Given the description of an element on the screen output the (x, y) to click on. 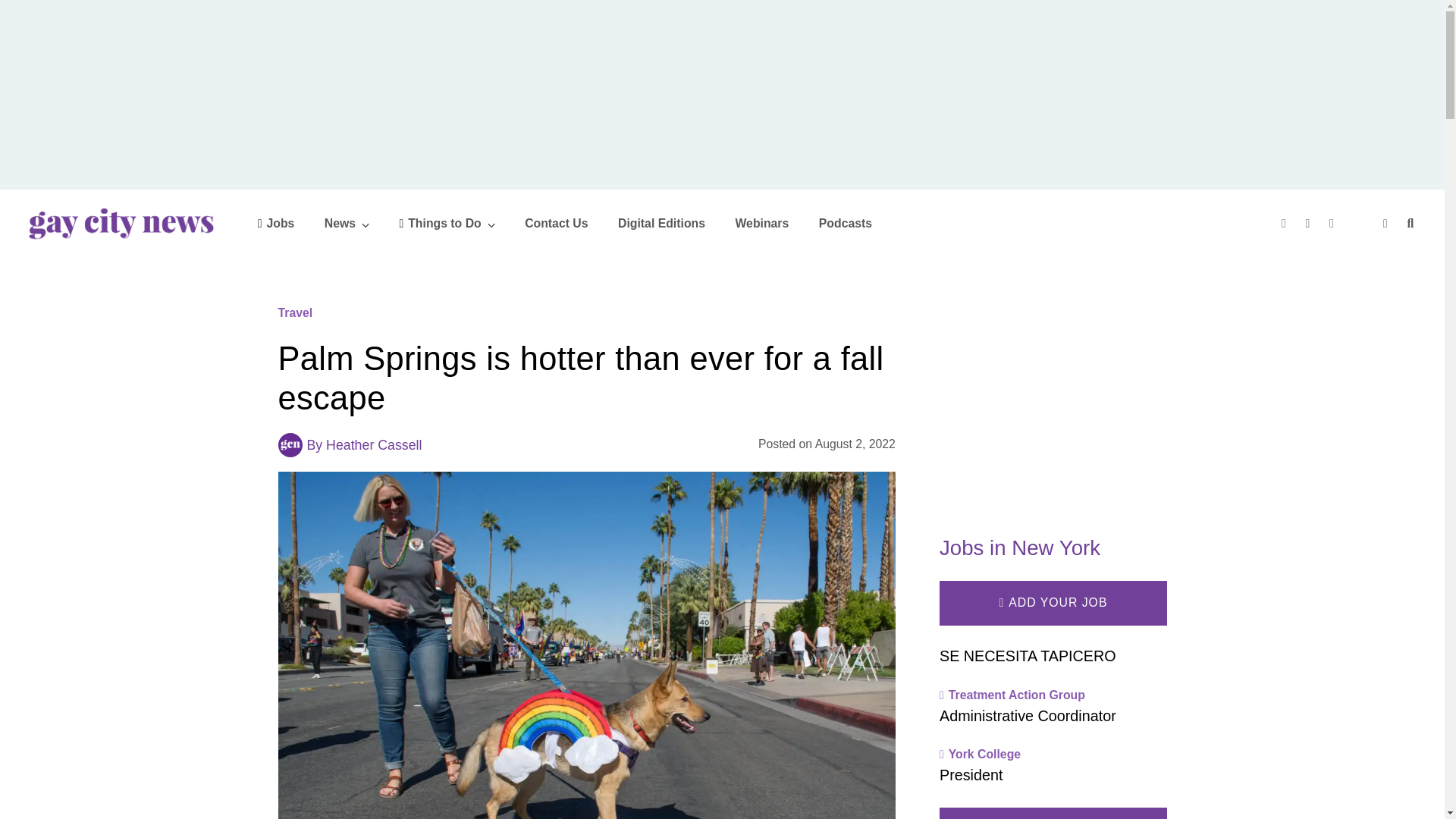
Things to Do (446, 223)
Digital Editions (660, 223)
Posts by Heather Cassell (374, 444)
Webinars (762, 223)
Jobs (276, 223)
Podcasts (845, 223)
Contact Us (556, 223)
News (346, 223)
